Given the description of an element on the screen output the (x, y) to click on. 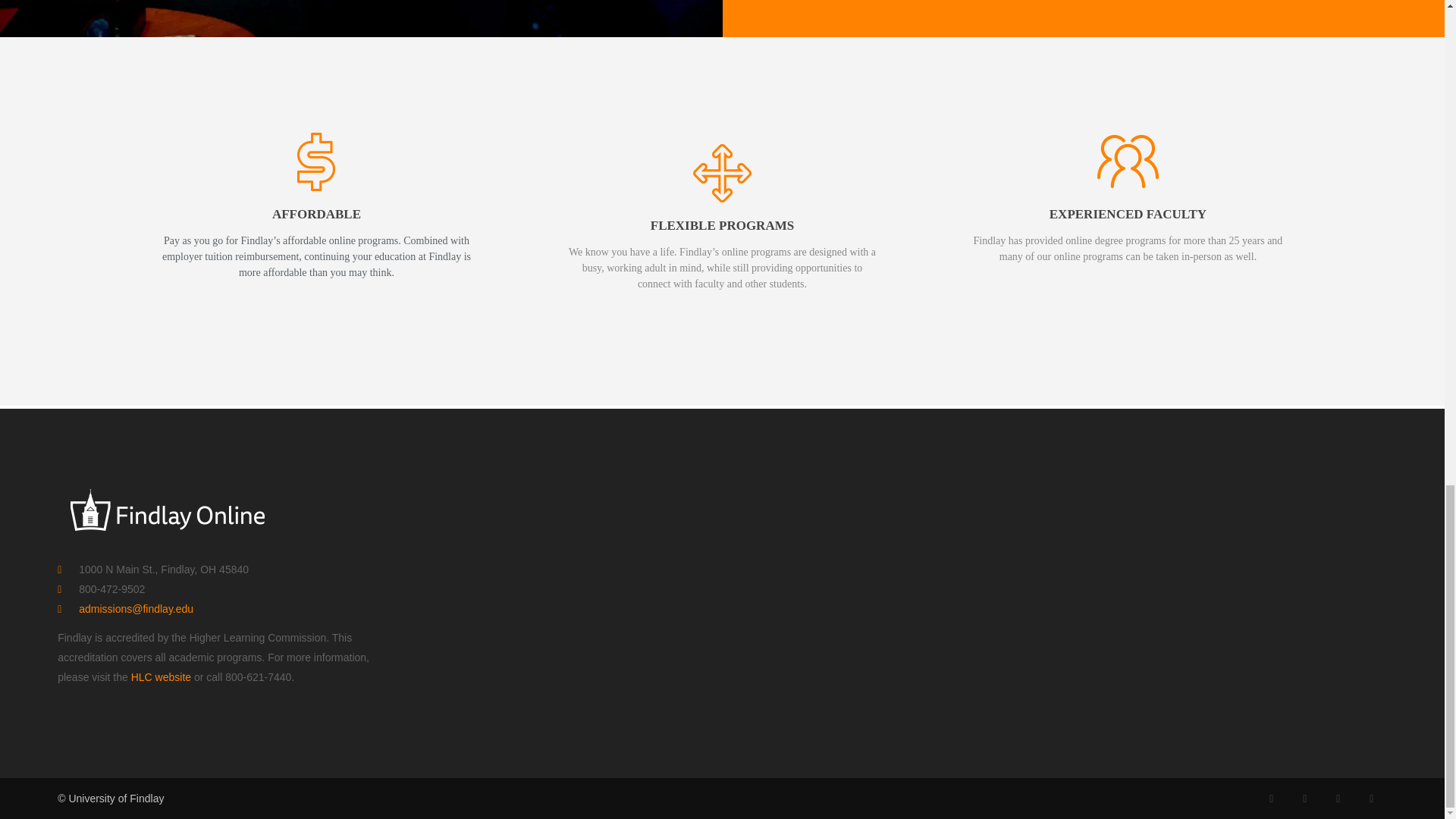
HLC website (160, 676)
Flexible Icon (722, 172)
Affordable Icon (316, 161)
Faculty Icon (1127, 161)
